Given the description of an element on the screen output the (x, y) to click on. 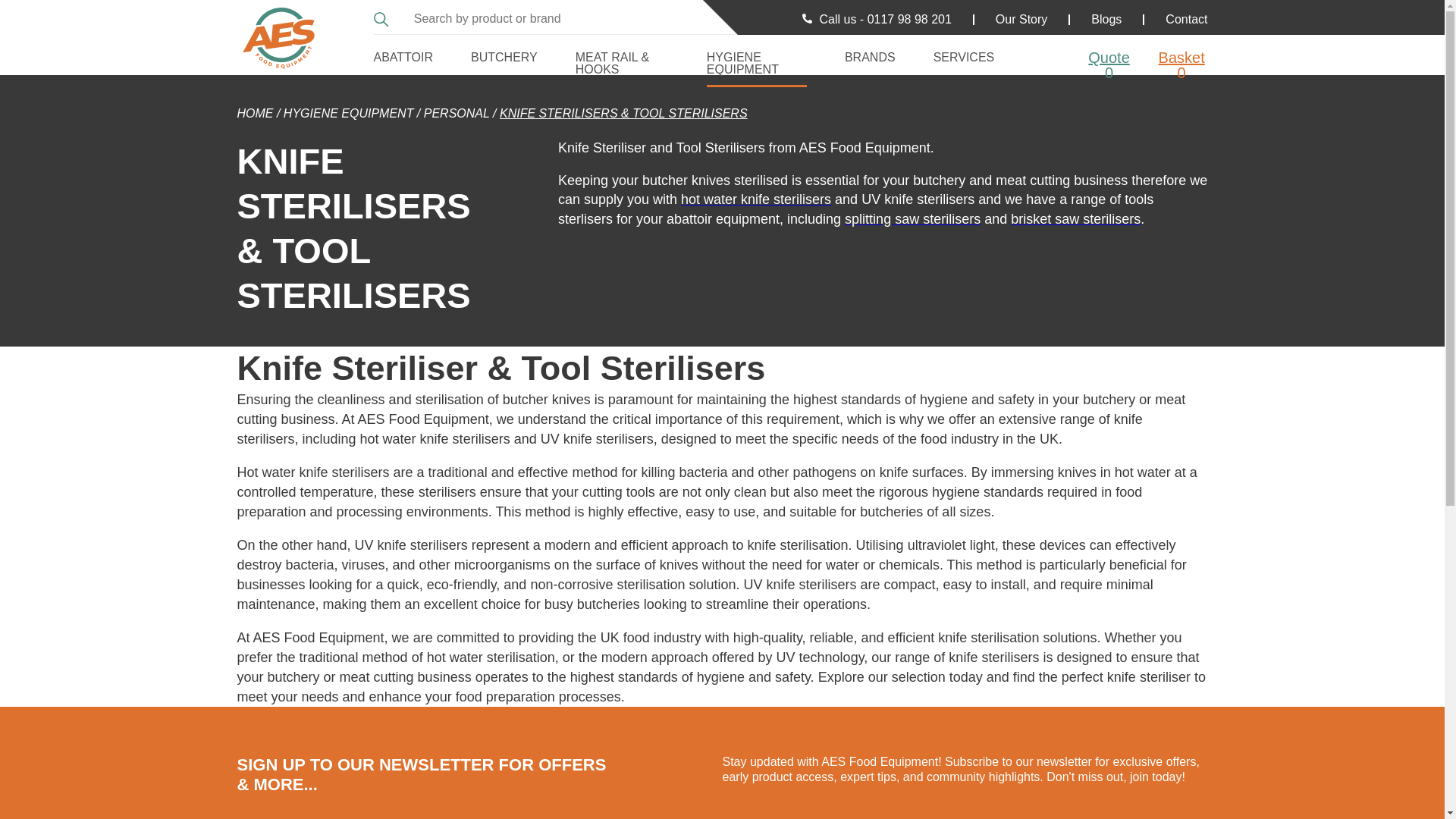
Contact (1186, 19)
Search (381, 16)
ABATTOIR (402, 55)
BUTCHERY (503, 55)
0117 98 98 201 (909, 19)
Our Story (1020, 19)
Blogs (1105, 19)
